Given the description of an element on the screen output the (x, y) to click on. 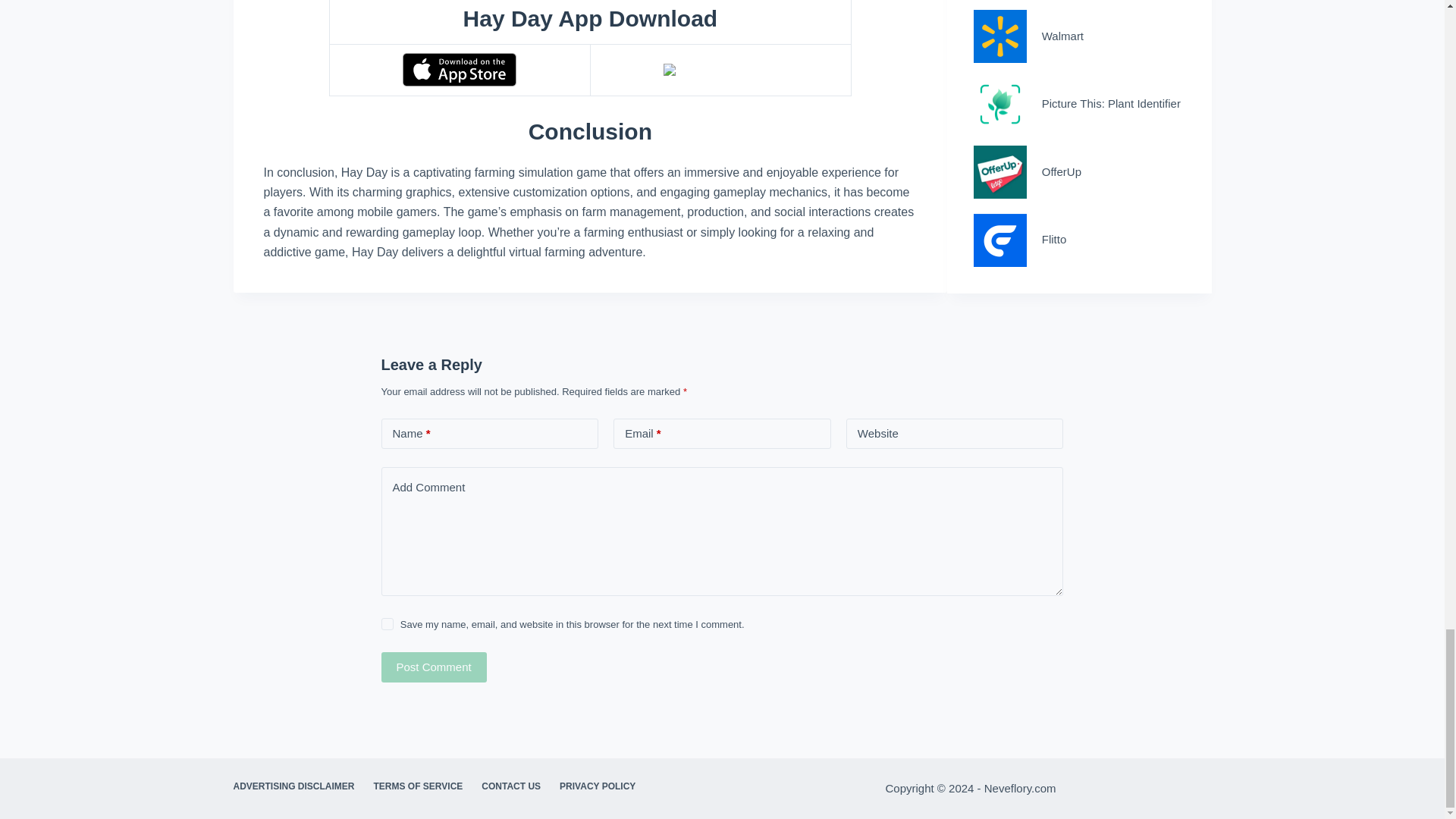
TERMS OF SERVICE (417, 787)
Post Comment (433, 666)
PRIVACY POLICY (597, 787)
yes (386, 623)
ADVERTISING DISCLAIMER (294, 787)
CONTACT US (510, 787)
